Given the description of an element on the screen output the (x, y) to click on. 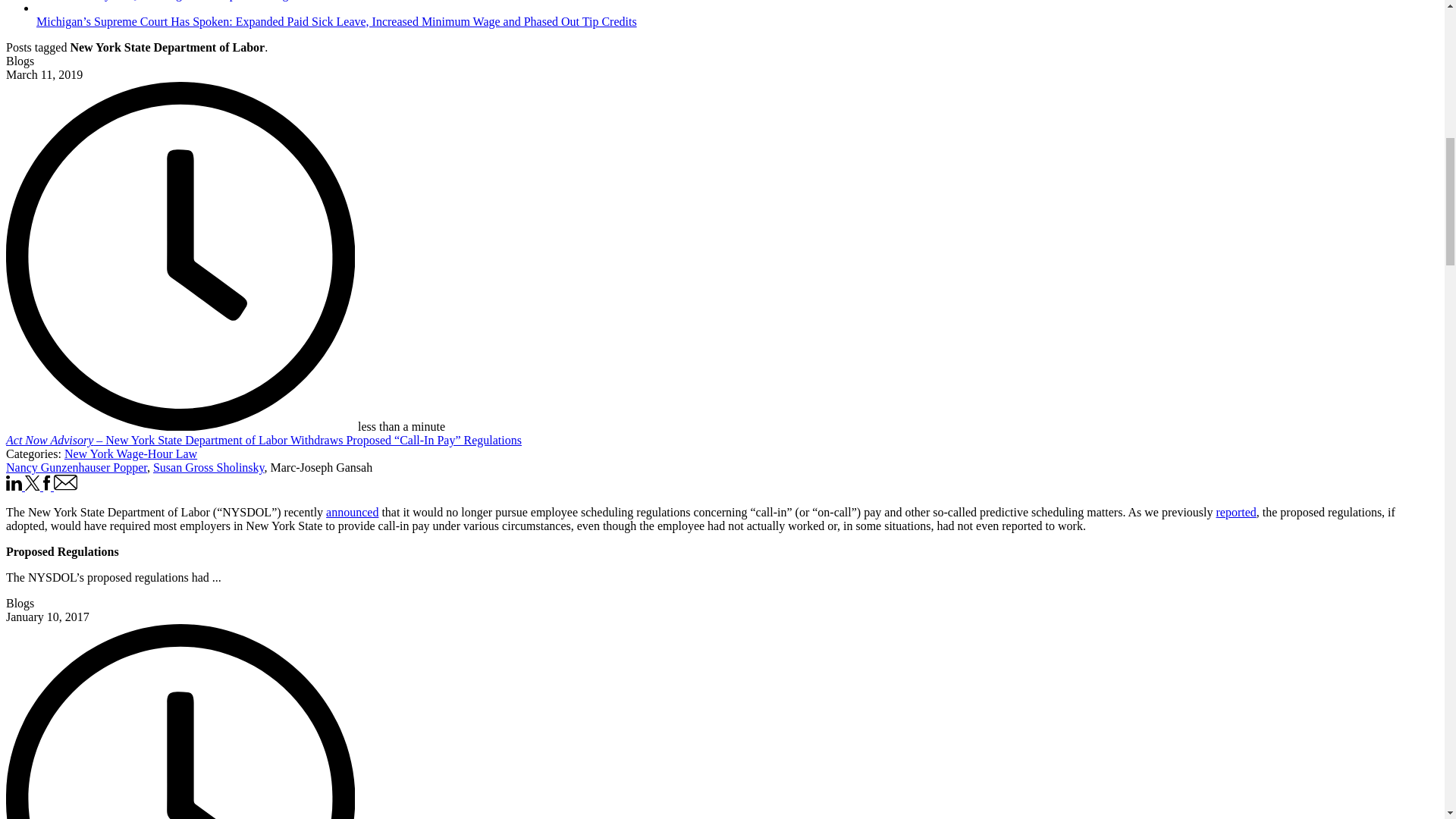
Clock (180, 255)
Susan Gross Sholinsky (208, 467)
Clock (180, 721)
Nancy Gunzenhauser Popper (76, 467)
Email (65, 486)
Twitter (33, 486)
Email (65, 482)
reported (1235, 512)
Linkedin (14, 486)
Linkedin (13, 482)
